Given the description of an element on the screen output the (x, y) to click on. 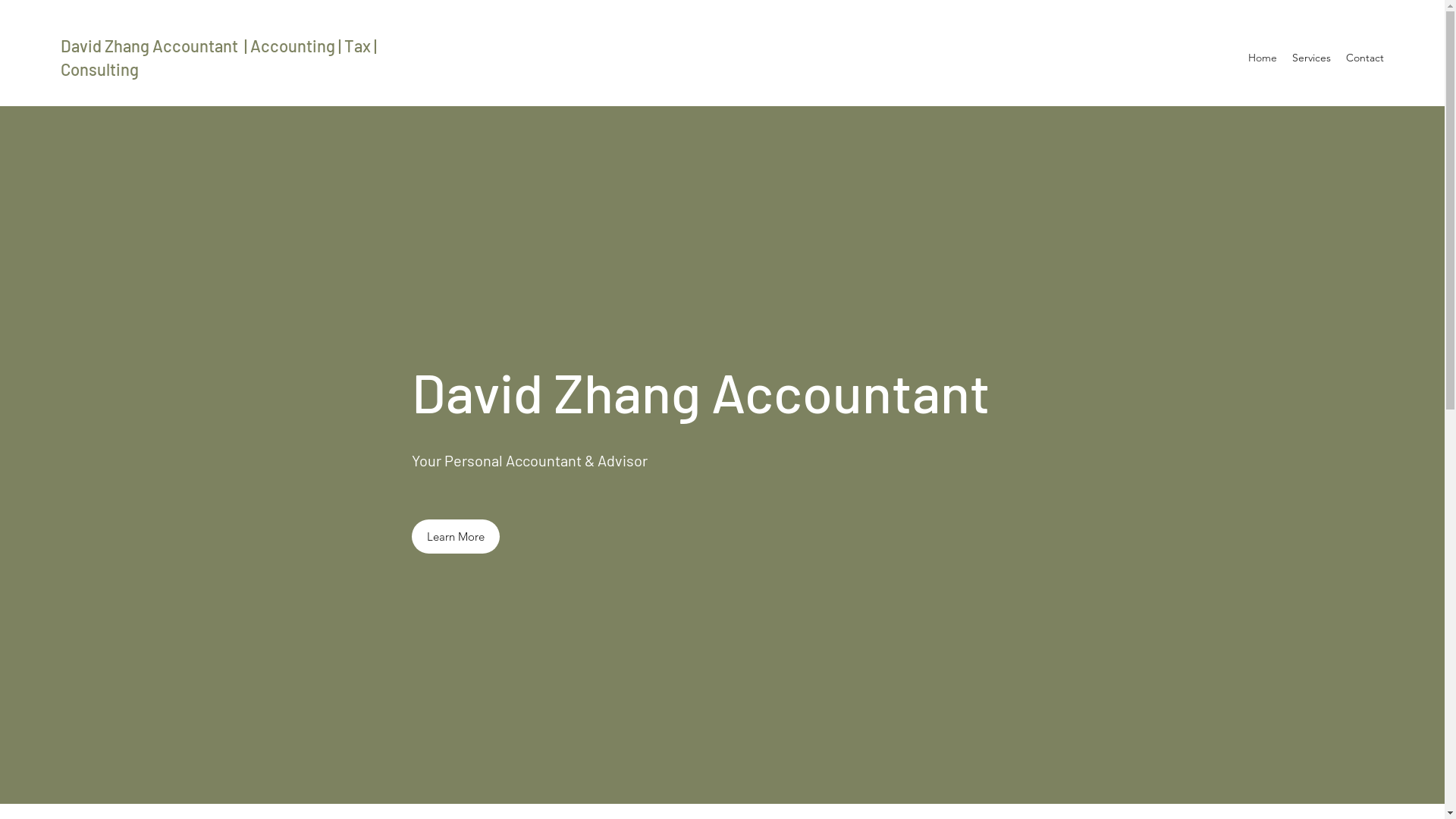
Services Element type: text (1311, 57)
David Zhang Accountant  | Accounting | Tax |  Consulting Element type: text (219, 56)
Contact Element type: text (1364, 57)
Learn More Element type: text (454, 536)
Home Element type: text (1262, 57)
